Given the description of an element on the screen output the (x, y) to click on. 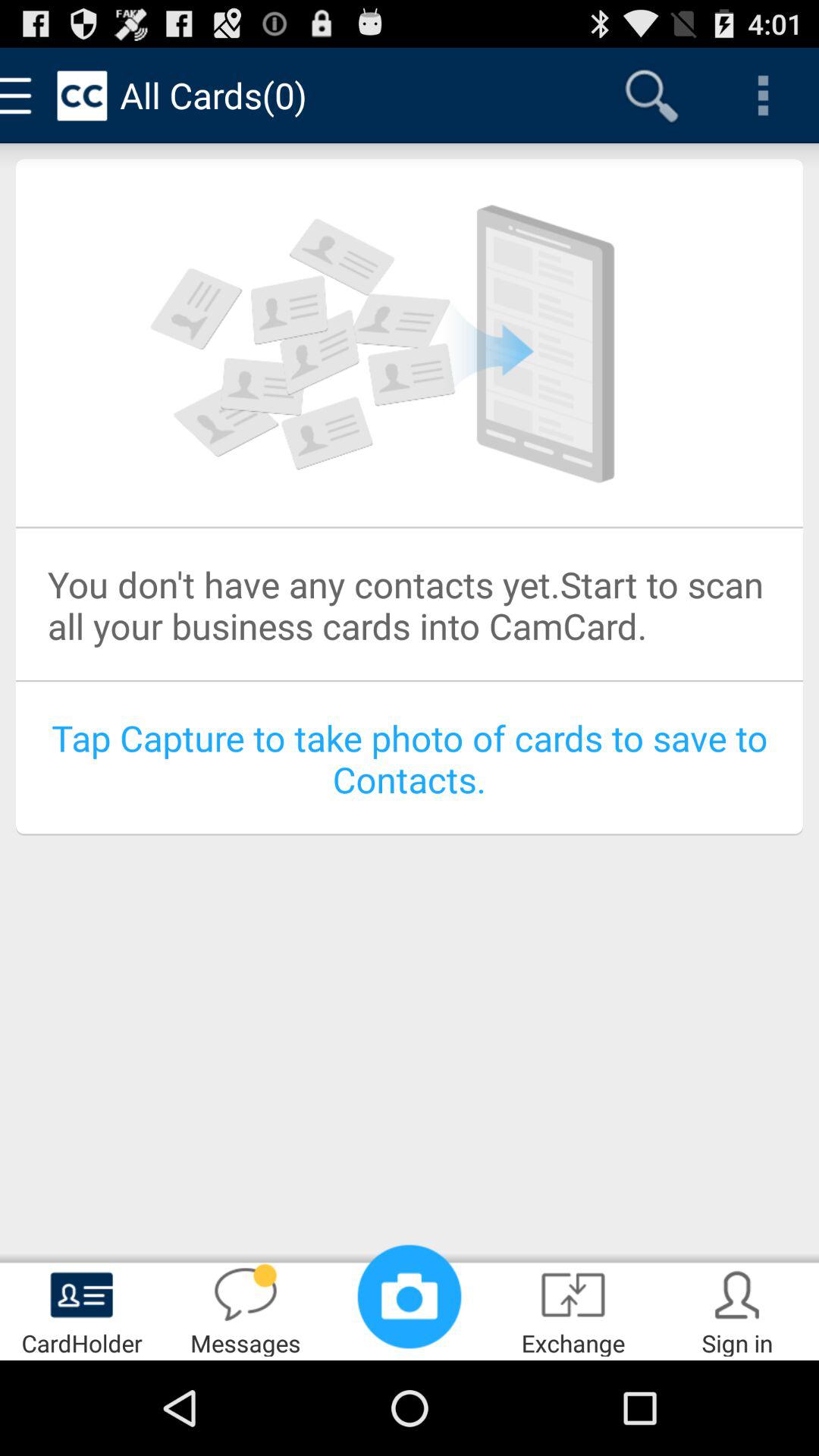
press icon next to all cards(0) (651, 95)
